Given the description of an element on the screen output the (x, y) to click on. 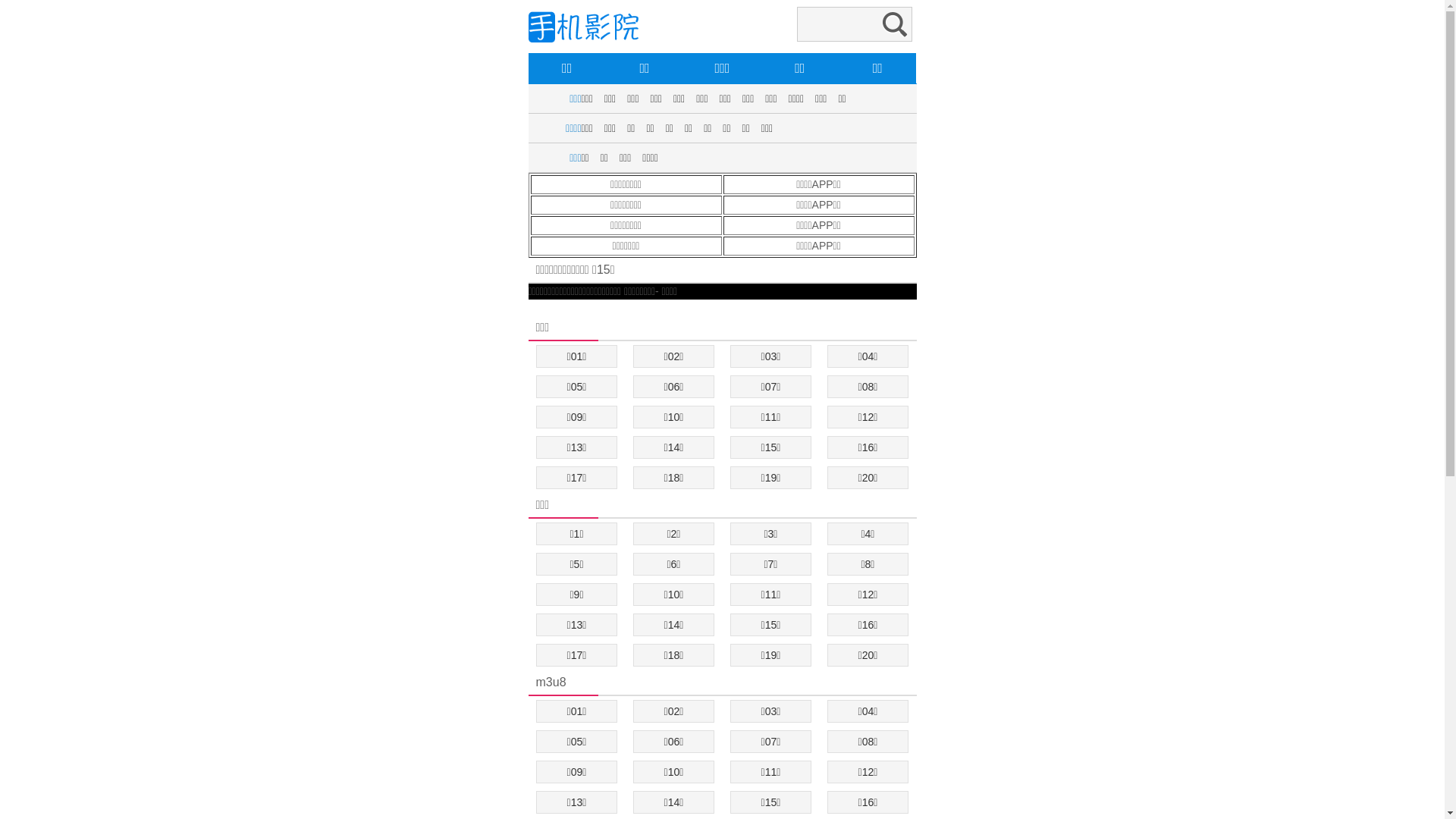
  Element type: text (528, 307)
